Given the description of an element on the screen output the (x, y) to click on. 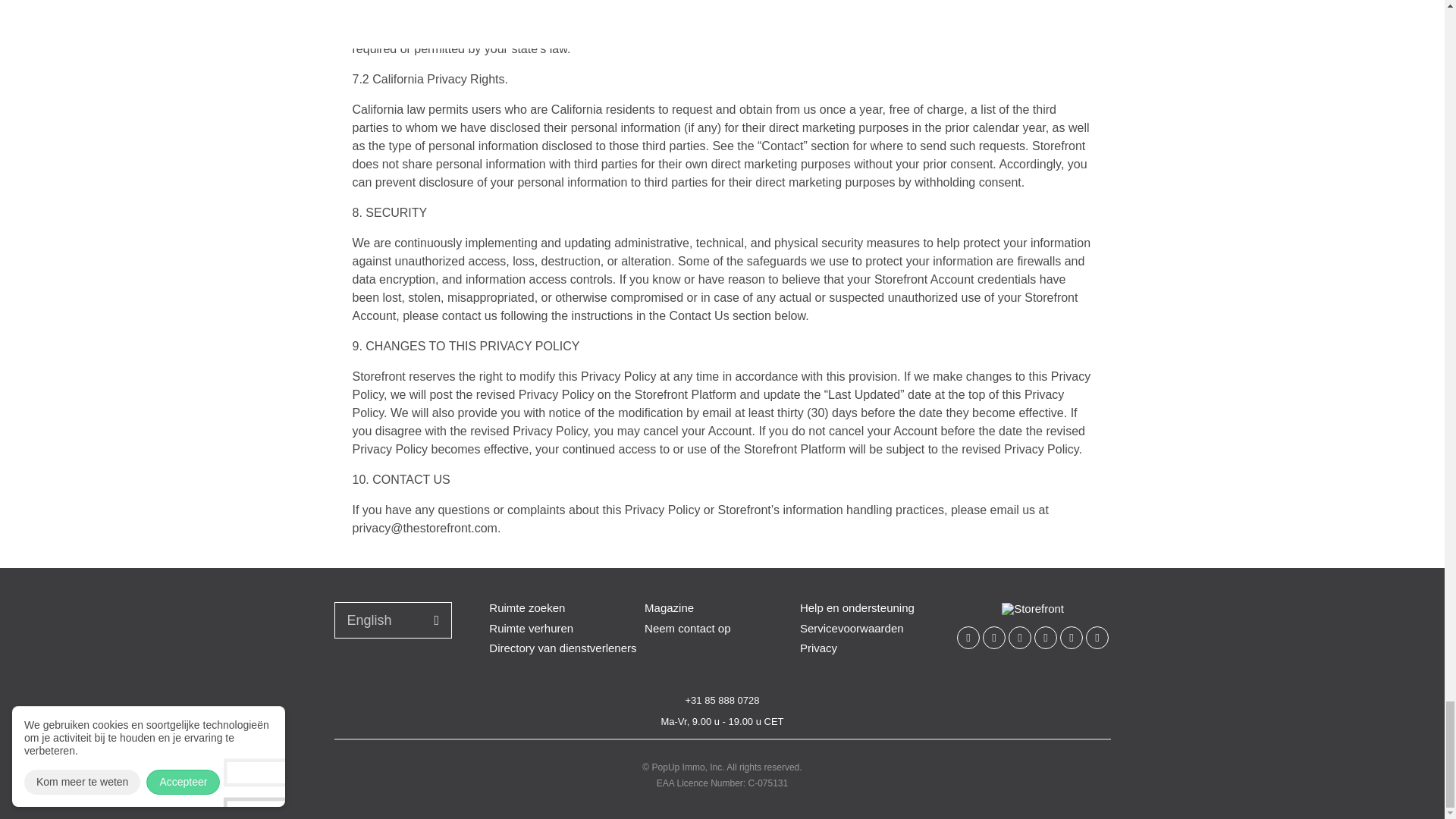
Servicevoorwaarden (851, 627)
Ruimte zoeken (526, 608)
Magazine (669, 608)
Neem contact op (687, 627)
Ruimte verhuren (531, 627)
Directory van dienstverleners (562, 648)
Help en ondersteuning (856, 608)
Privacy (818, 648)
